Given the description of an element on the screen output the (x, y) to click on. 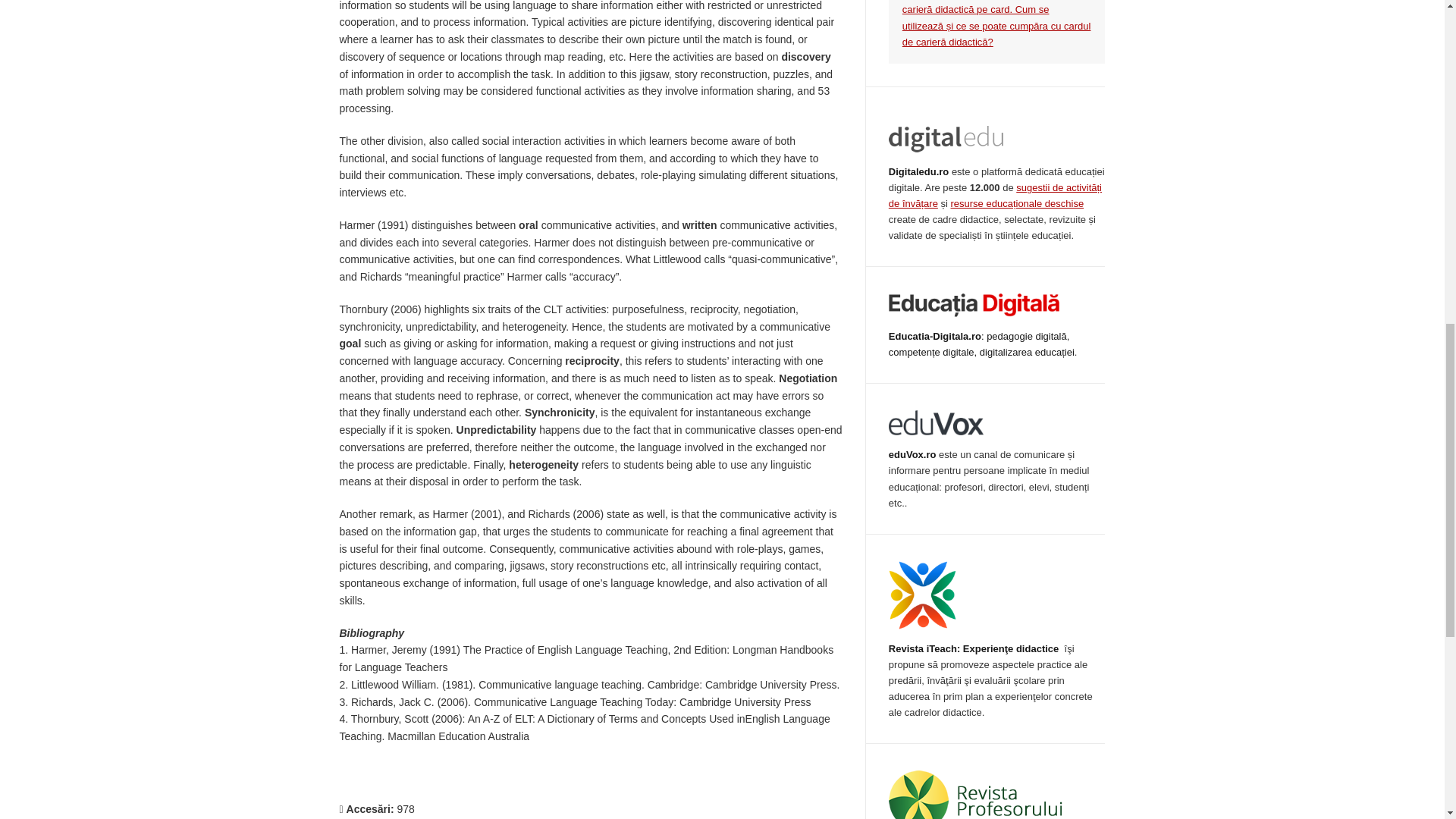
EduVox (936, 422)
Digitaledu.ro (918, 171)
Revista Profesorului (975, 794)
